Given the description of an element on the screen output the (x, y) to click on. 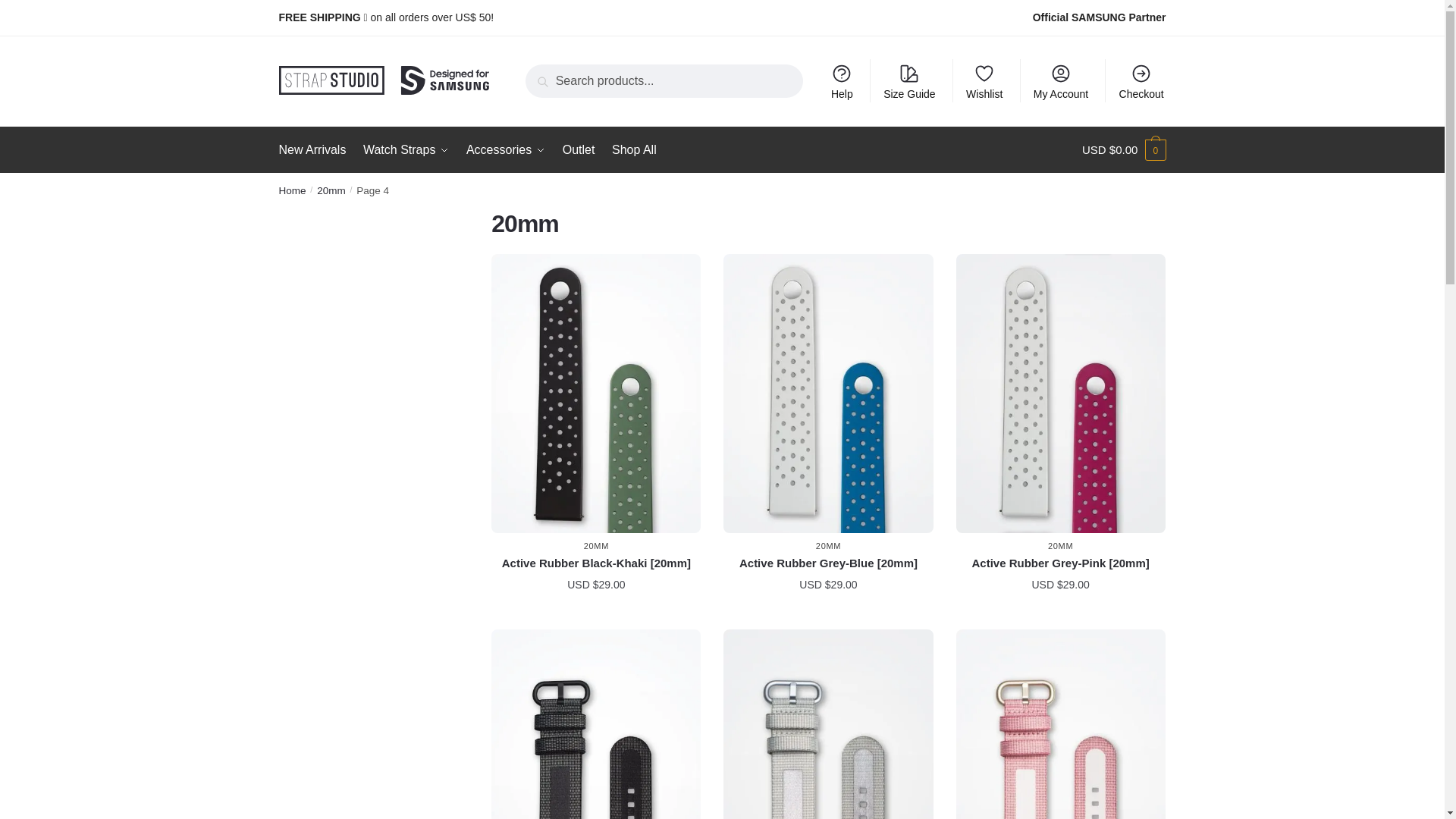
New Arrivals (316, 149)
Wishlist (983, 80)
View your shopping cart (1123, 149)
Search (549, 74)
Checkout (1141, 80)
Help (841, 80)
My Account (1061, 80)
Watch Straps (405, 149)
Size Guide (909, 80)
